Given the description of an element on the screen output the (x, y) to click on. 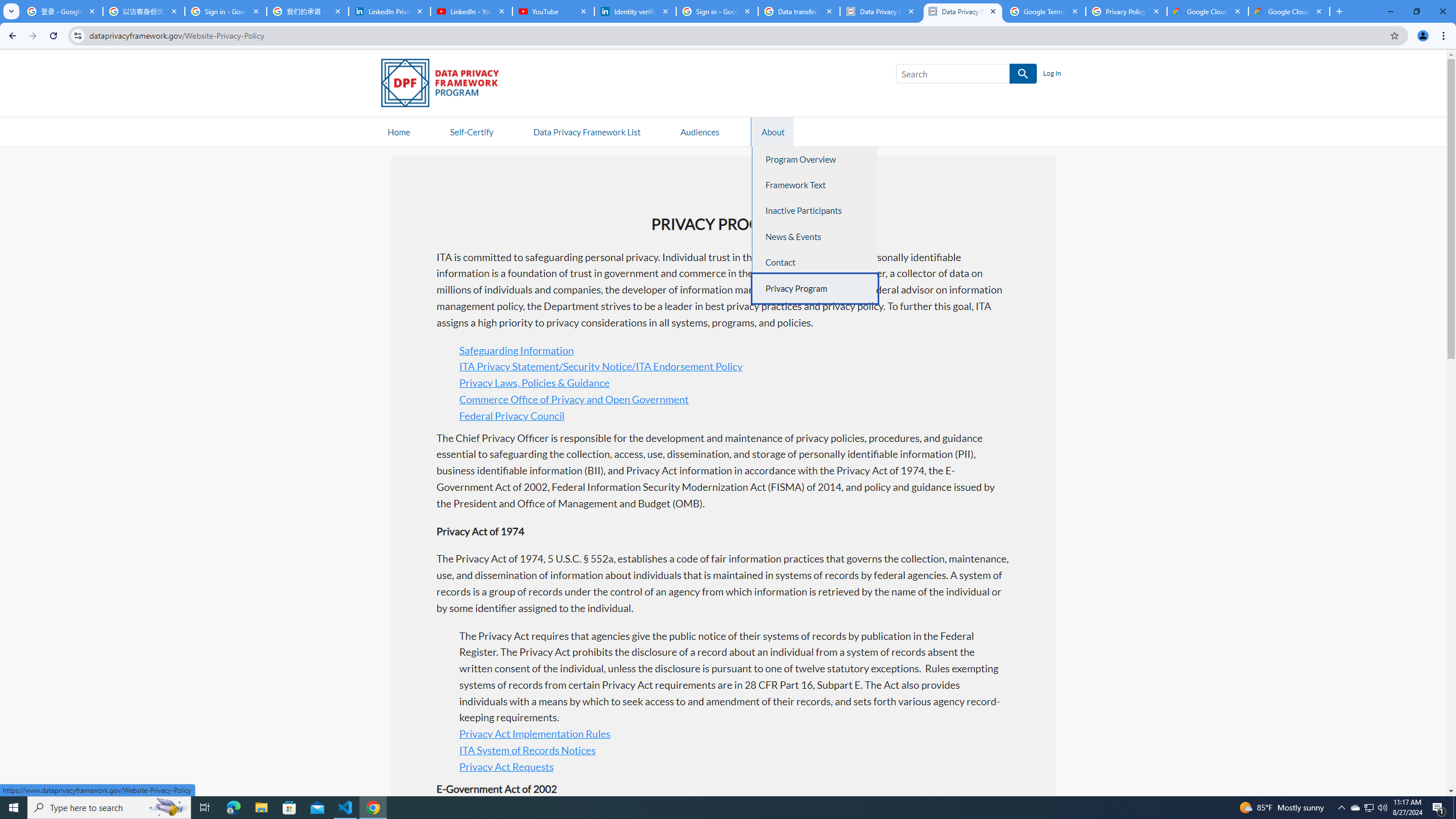
AutomationID: navitem2 (771, 131)
Program Overview (815, 158)
Inactive Participants (815, 211)
SEARCH (1022, 73)
Contact (815, 262)
Privacy Act Implementation Rules (534, 733)
LinkedIn Privacy Policy (389, 11)
Privacy Act Requests (505, 766)
Privacy Laws, Policies & Guidance (534, 382)
